Given the description of an element on the screen output the (x, y) to click on. 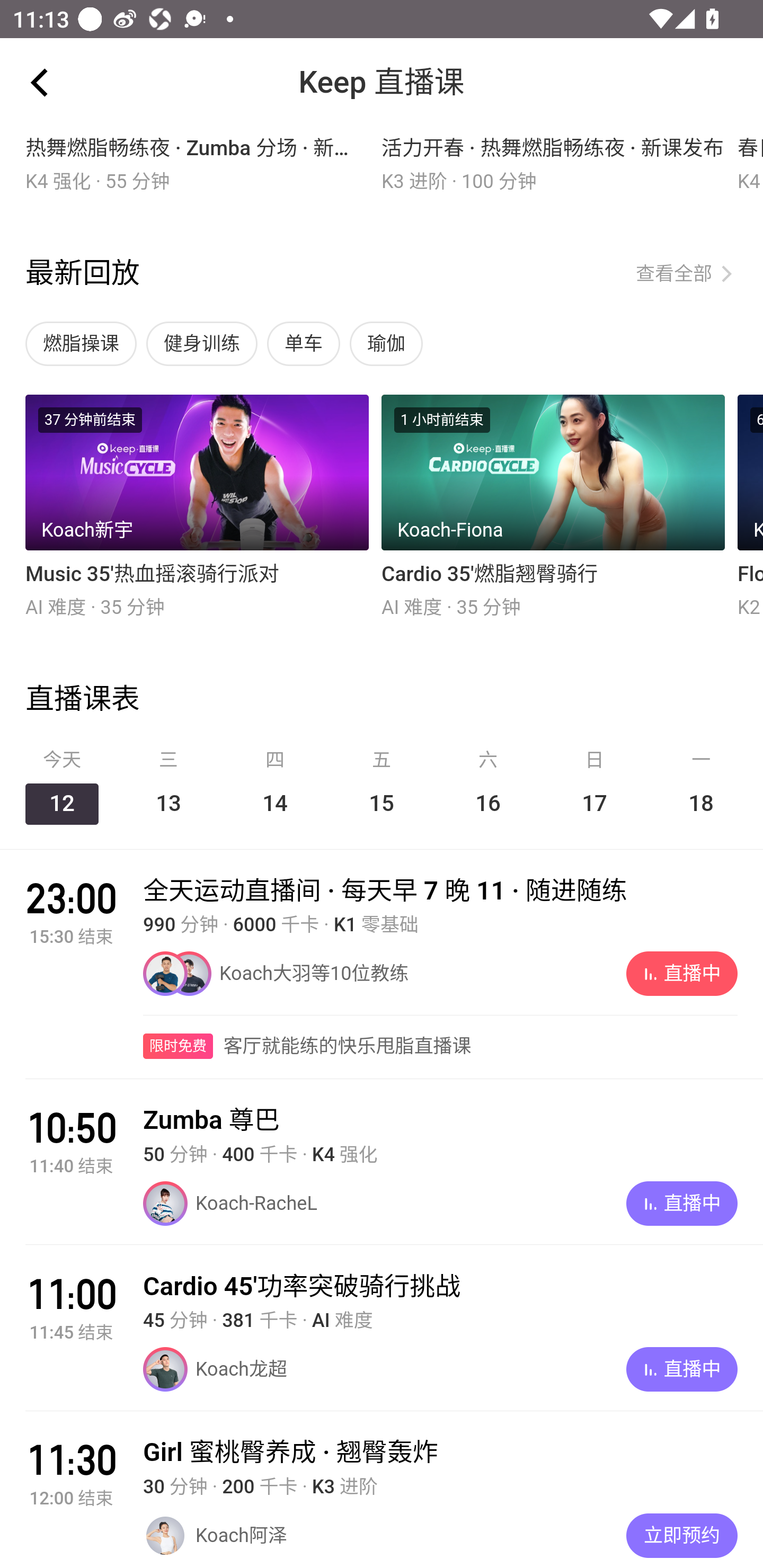
查看全部 (685, 274)
燃脂操课 (81, 344)
健身训练 (202, 344)
单车 (304, 344)
瑜伽 (386, 344)
37 分钟前结束 Koach新宇 Music 35'热血摇滚骑行派对 AI 难度 · 35 分钟 (196, 507)
1 小时前结束 Koach-Fiona Cardio 35'燃脂翘臀骑行 AI 难度 · 35 分钟 (552, 507)
今天12 (61, 786)
三13 (168, 786)
四14 (274, 786)
五15 (381, 786)
六16 (487, 786)
日17 (594, 786)
一18 (700, 786)
直播中 (681, 974)
直播中 (681, 1203)
直播中 (681, 1369)
立即预约 (681, 1535)
